Given the description of an element on the screen output the (x, y) to click on. 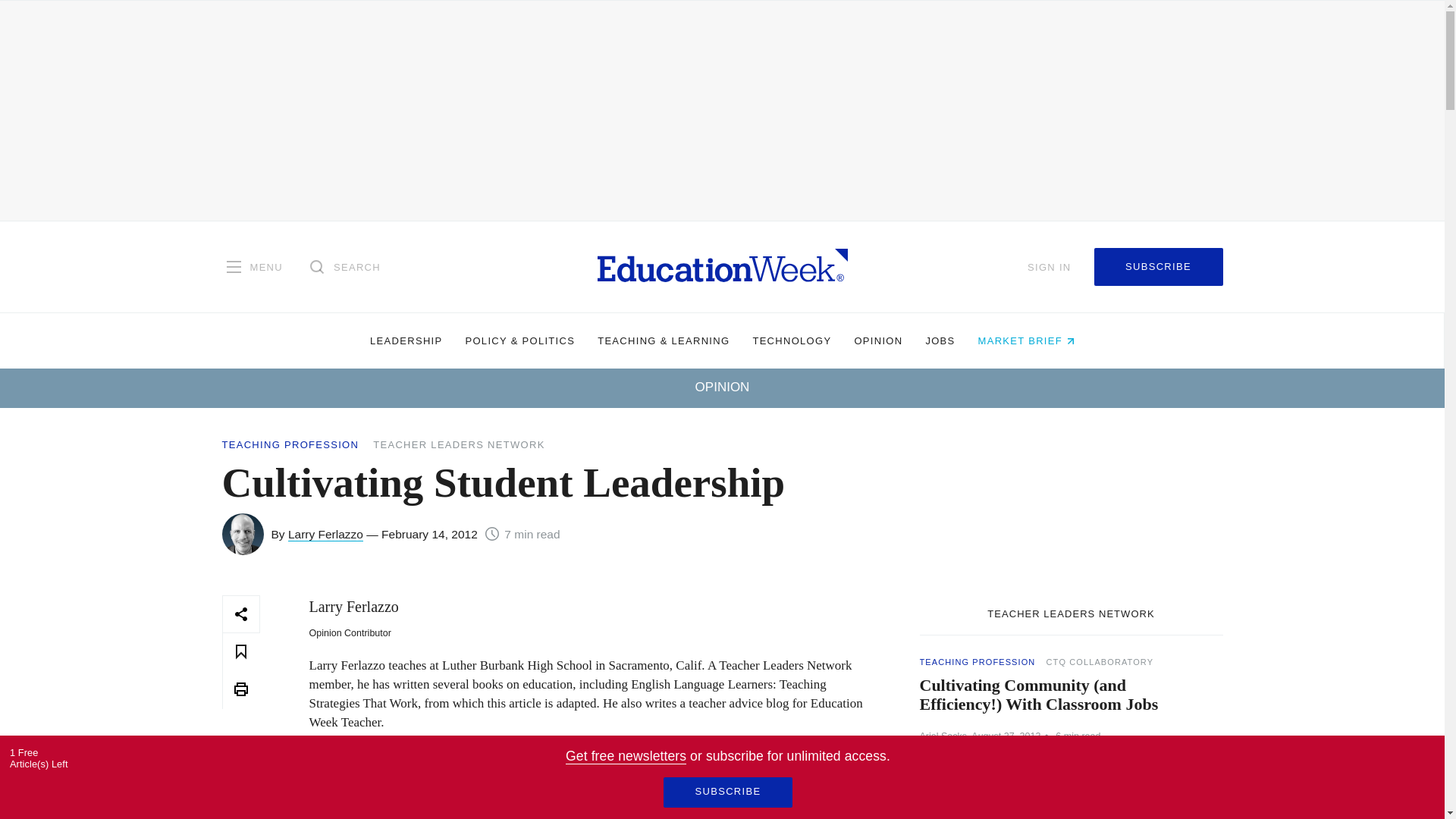
Homepage (721, 266)
